Given the description of an element on the screen output the (x, y) to click on. 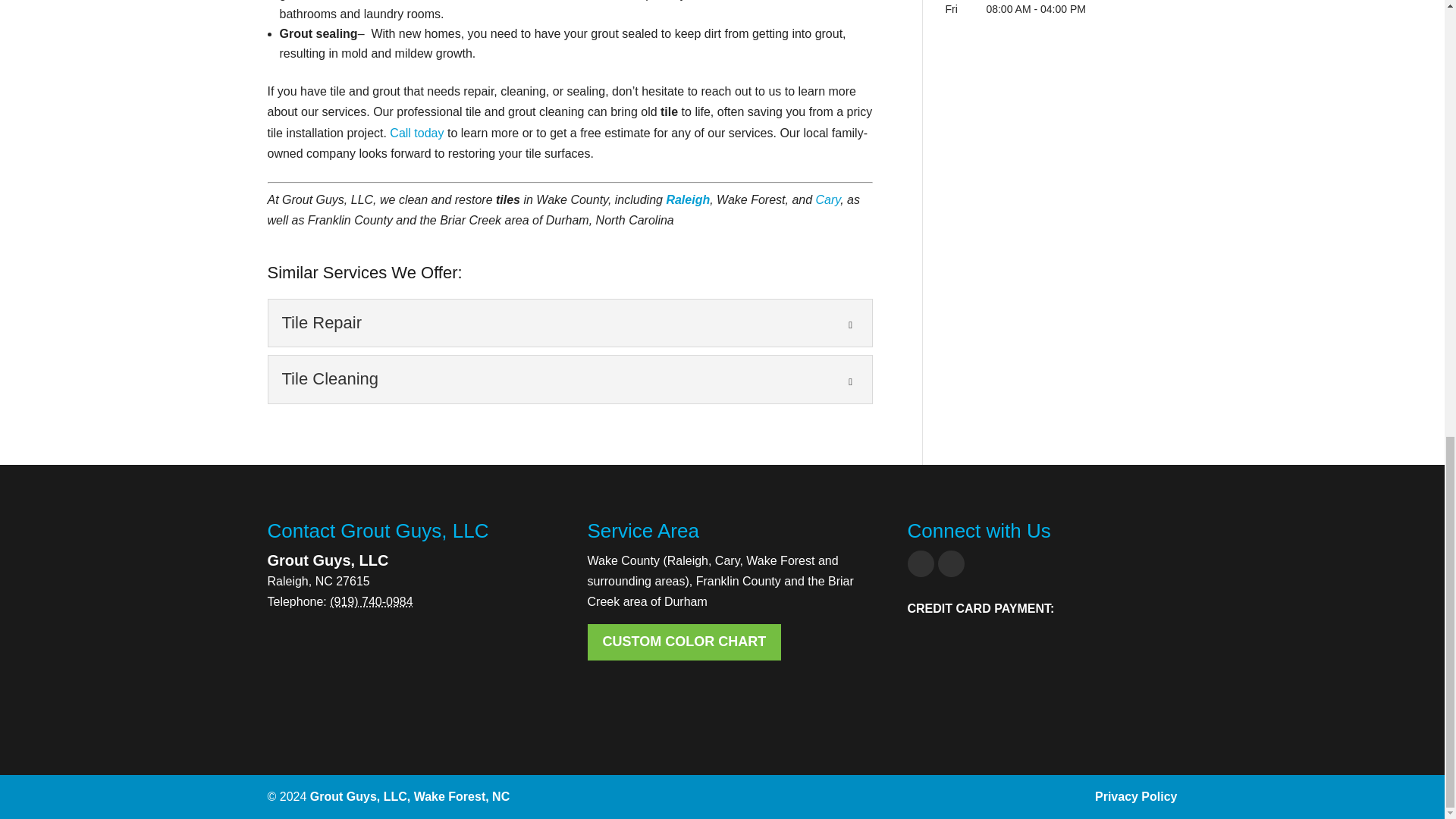
Call today (417, 132)
Raleigh (687, 199)
Cary (828, 199)
Tile Repair (569, 322)
